Given the description of an element on the screen output the (x, y) to click on. 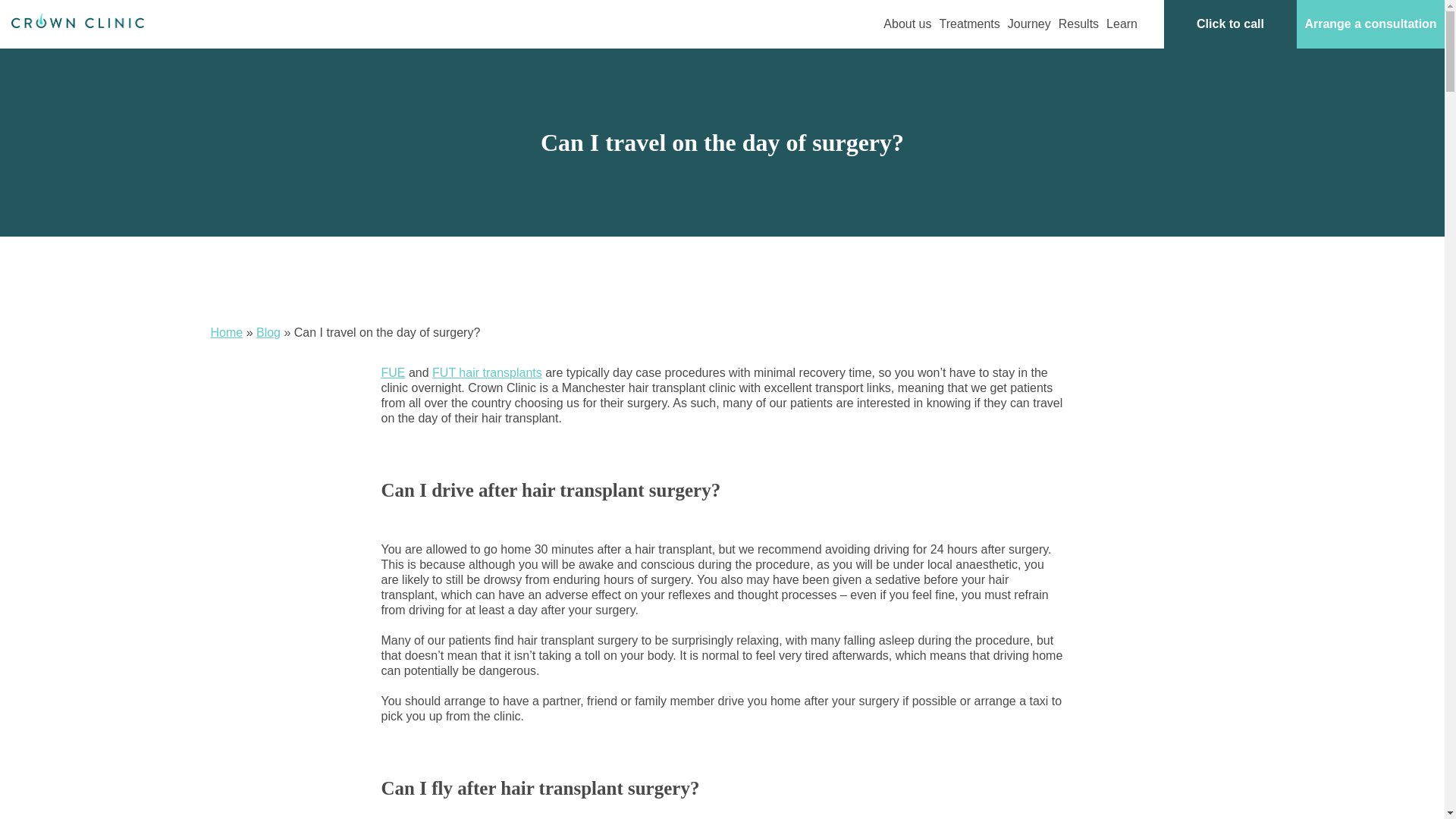
About us (907, 24)
Treatments (968, 24)
Click to call (1230, 24)
Home (227, 332)
Journey (1029, 24)
